Given the description of an element on the screen output the (x, y) to click on. 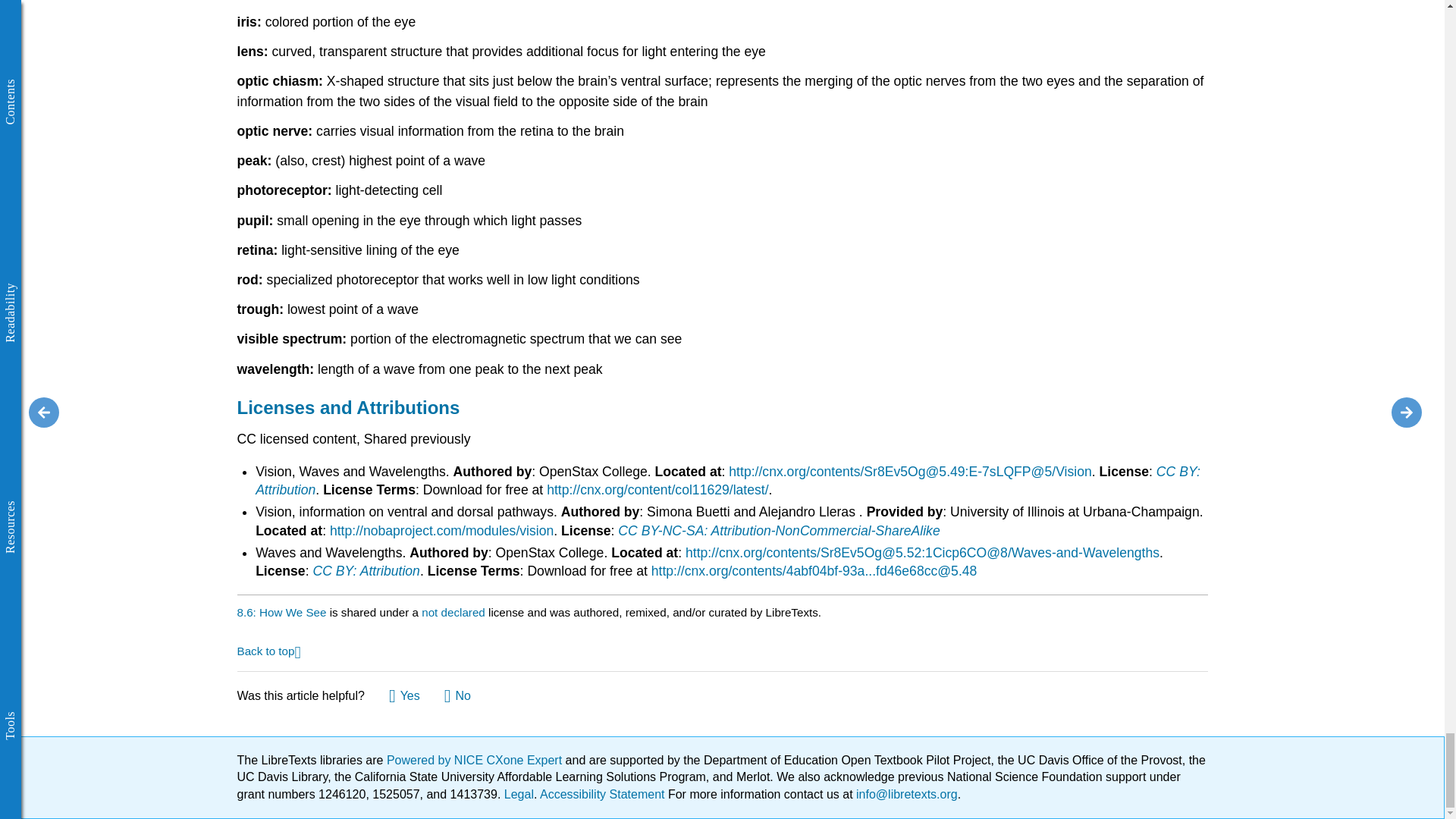
Jump back to top of this article (267, 650)
